Given the description of an element on the screen output the (x, y) to click on. 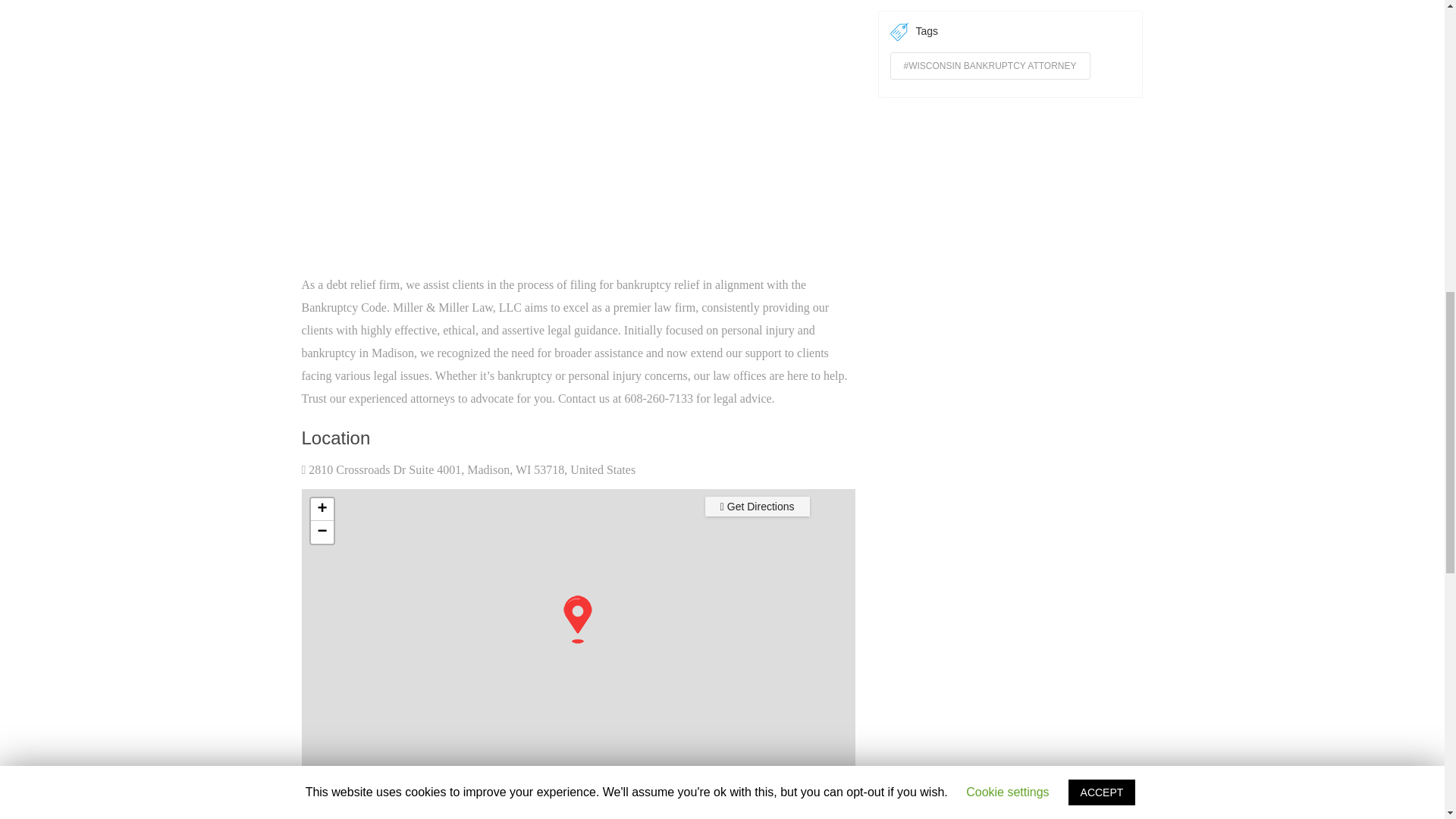
Advertisement (578, 151)
Get Directions (756, 506)
Zoom in (322, 508)
A JS library for interactive maps (837, 785)
wisconsin bankruptcy attorney (989, 65)
Leaflet (837, 785)
Zoom out (322, 531)
